Given the description of an element on the screen output the (x, y) to click on. 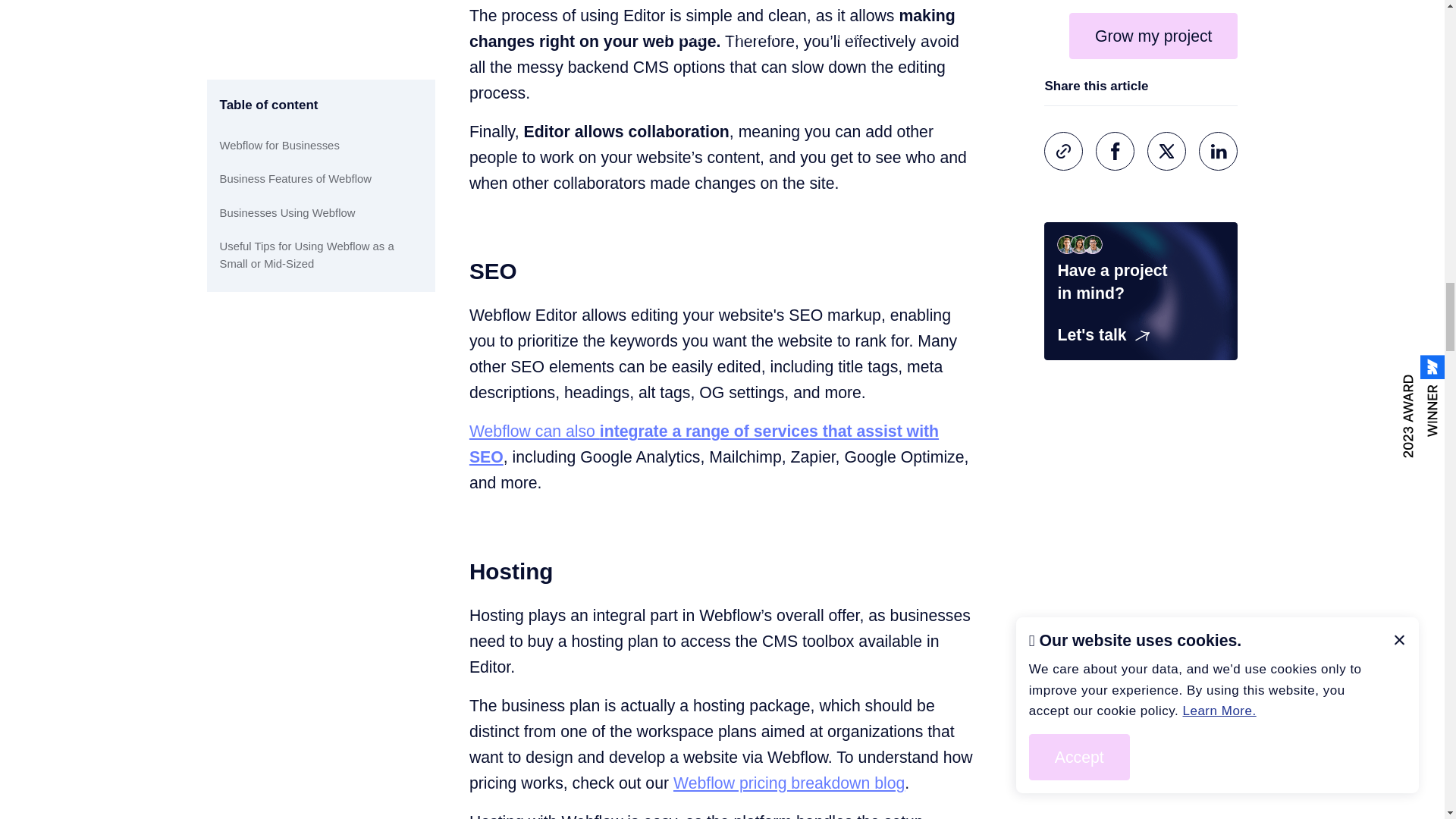
Webflow pricing breakdown blog (788, 782)
